Given the description of an element on the screen output the (x, y) to click on. 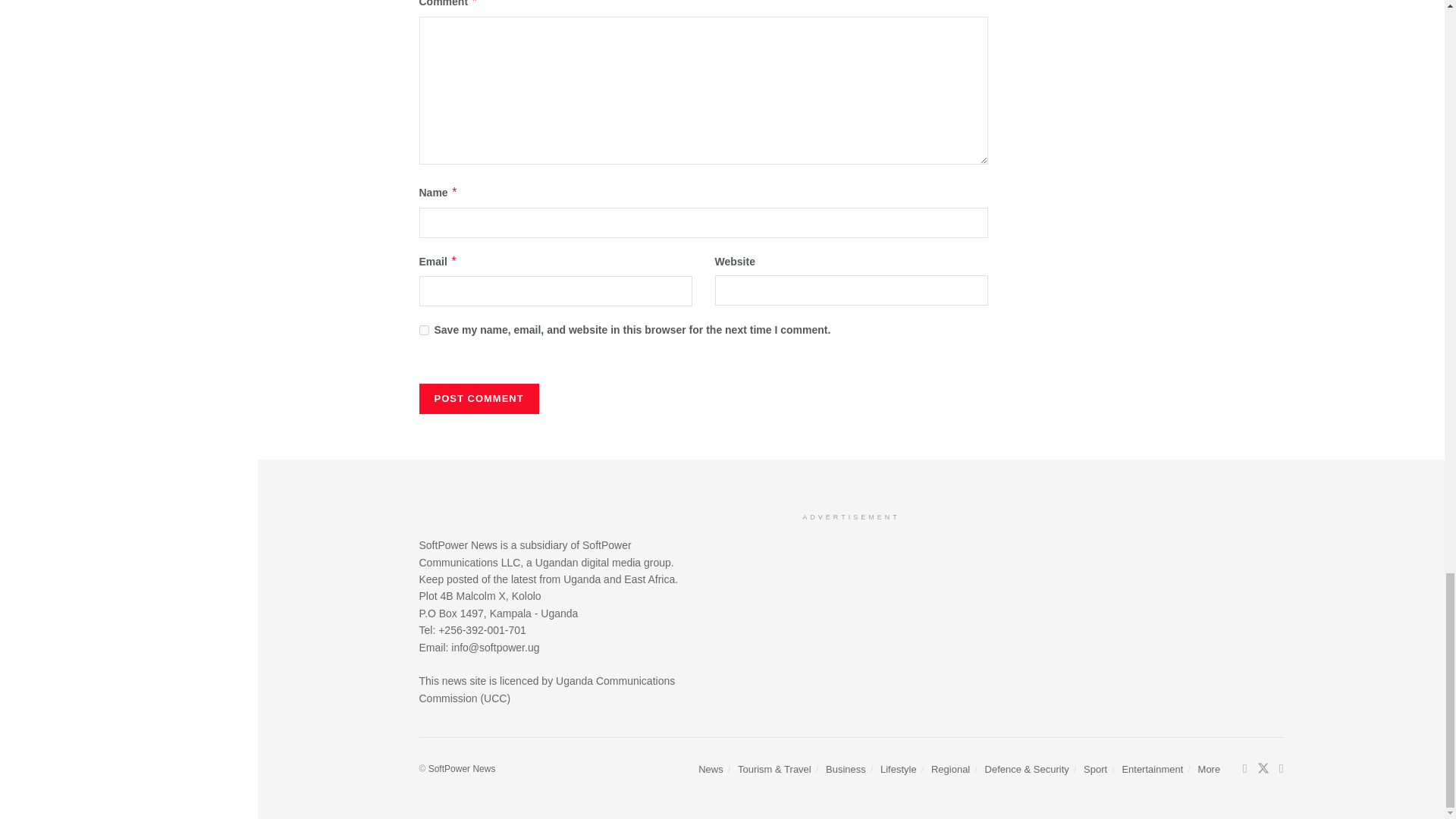
Post Comment (478, 399)
yes (423, 329)
SoftPower News (462, 768)
